Given the description of an element on the screen output the (x, y) to click on. 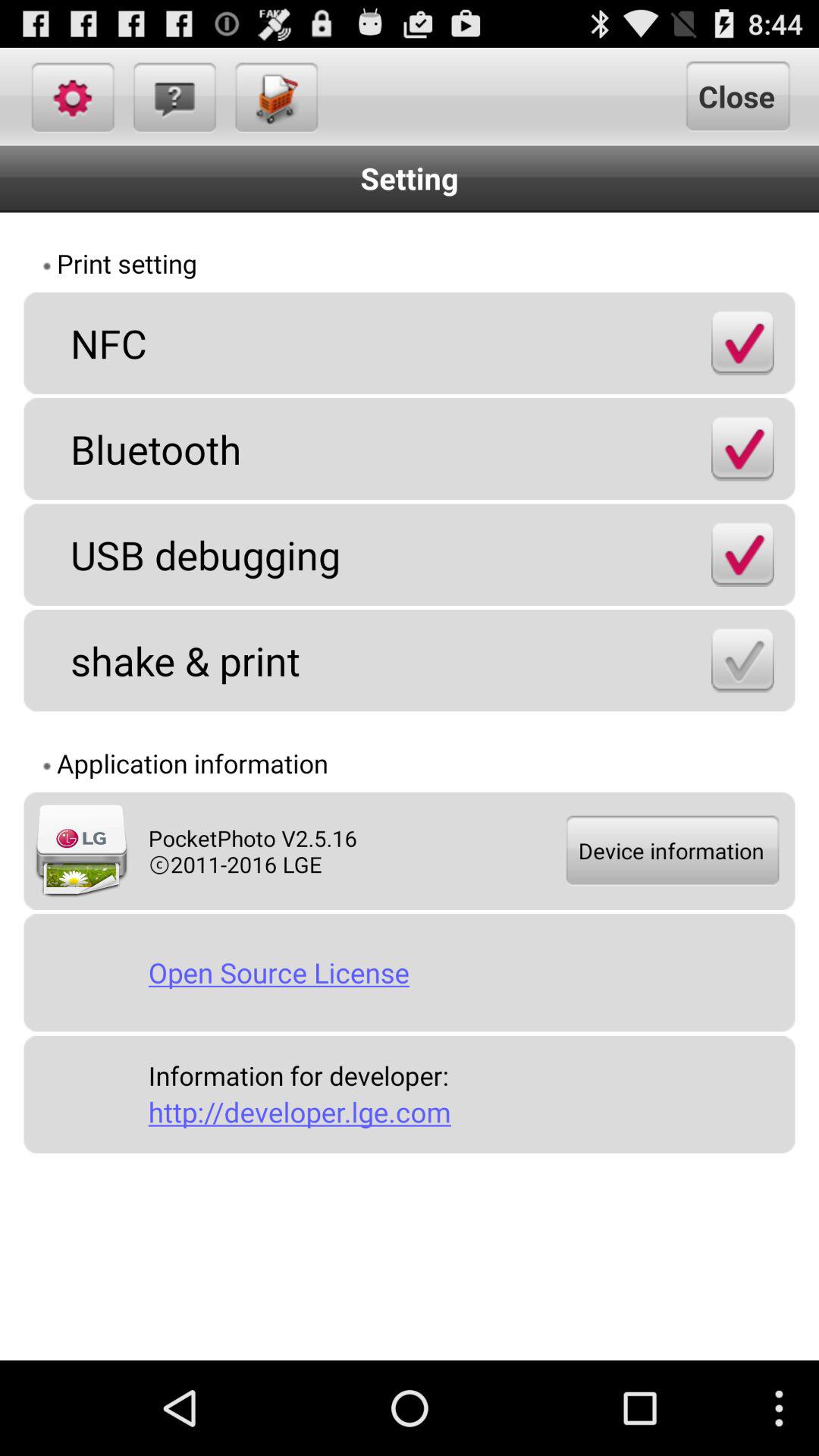
press icon above the setting app (173, 96)
